Given the description of an element on the screen output the (x, y) to click on. 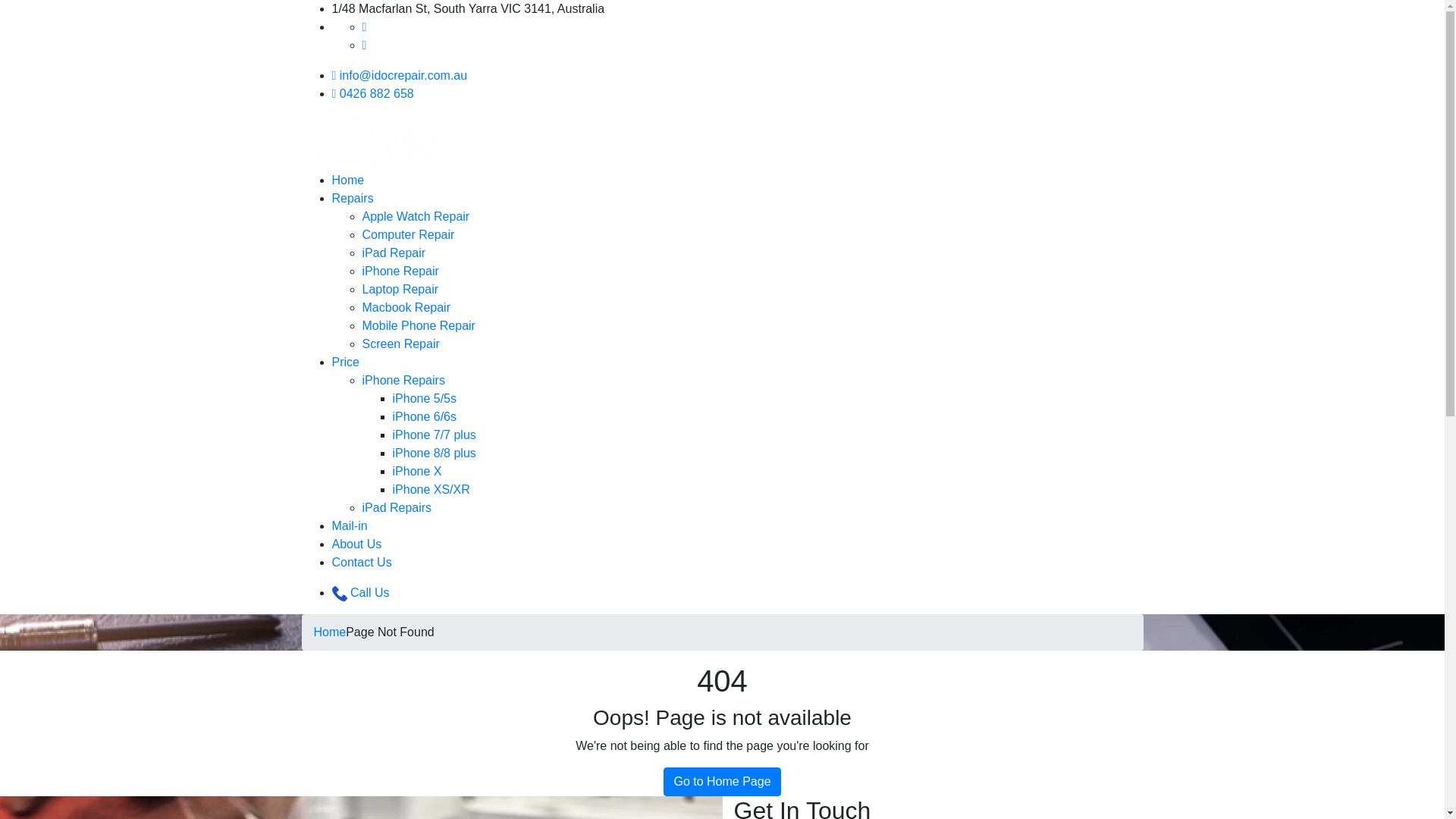
Call Us Element type: text (360, 592)
Macbook Repair Element type: text (406, 307)
iPhone 6/6s Element type: text (424, 416)
iPhone 5/5s Element type: text (424, 398)
iPhone Repair Element type: text (400, 270)
0426 882 658 Element type: text (373, 93)
Screen Repair Element type: text (400, 343)
Home Element type: text (329, 631)
info@idocrepair.com.au Element type: text (399, 75)
iPhone 7/7 plus Element type: text (434, 434)
Apple Watch Repair Element type: text (416, 216)
Price Element type: text (345, 361)
Go to Home Page Element type: text (721, 781)
Twitter Element type: hover (364, 44)
iPad Repair Element type: text (394, 252)
iPhone 8/8 plus Element type: text (434, 452)
Contact Us Element type: text (362, 561)
iDoc Repair Element type: hover (368, 143)
Mobile Phone Repair Element type: text (418, 325)
Mail-in Element type: text (349, 525)
Computer Repair Element type: text (408, 234)
About Us Element type: text (357, 543)
Home Element type: text (348, 179)
Repairs Element type: text (352, 197)
Laptop Repair Element type: text (400, 288)
iPhone XS/XR Element type: text (431, 489)
iPhone Repairs Element type: text (403, 379)
Facebook Element type: hover (364, 26)
iDoc Repair Element type: hover (368, 141)
iPhone X Element type: text (417, 470)
iPad Repairs Element type: text (397, 507)
